Given the description of an element on the screen output the (x, y) to click on. 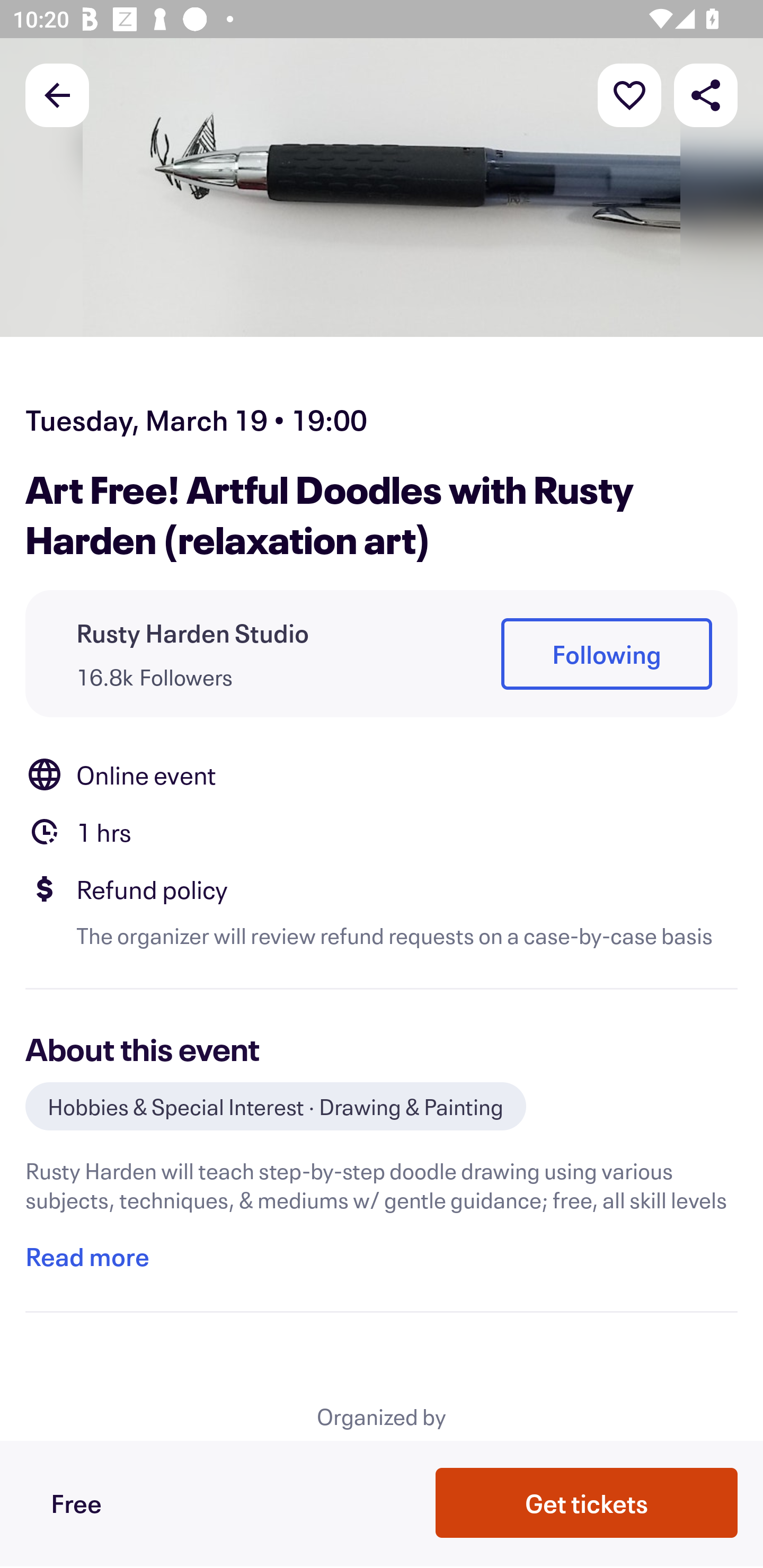
Back (57, 94)
More (629, 94)
Share (705, 94)
Rusty Harden Studio (192, 632)
Following (606, 654)
Location Online event (381, 774)
Read more (87, 1256)
Get tickets (586, 1500)
